Given the description of an element on the screen output the (x, y) to click on. 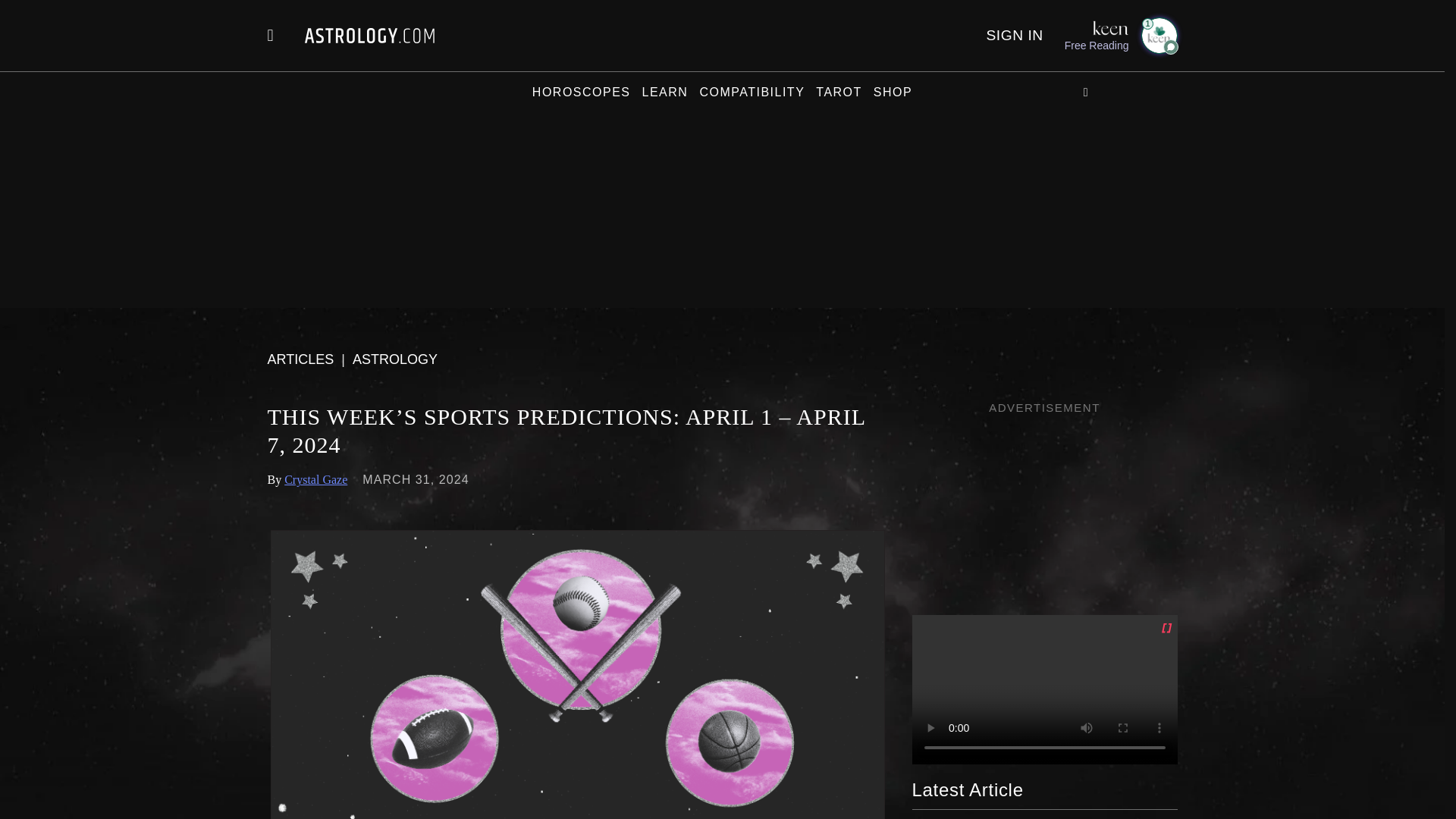
SIGN IN (1013, 35)
1 (1158, 35)
